Given the description of an element on the screen output the (x, y) to click on. 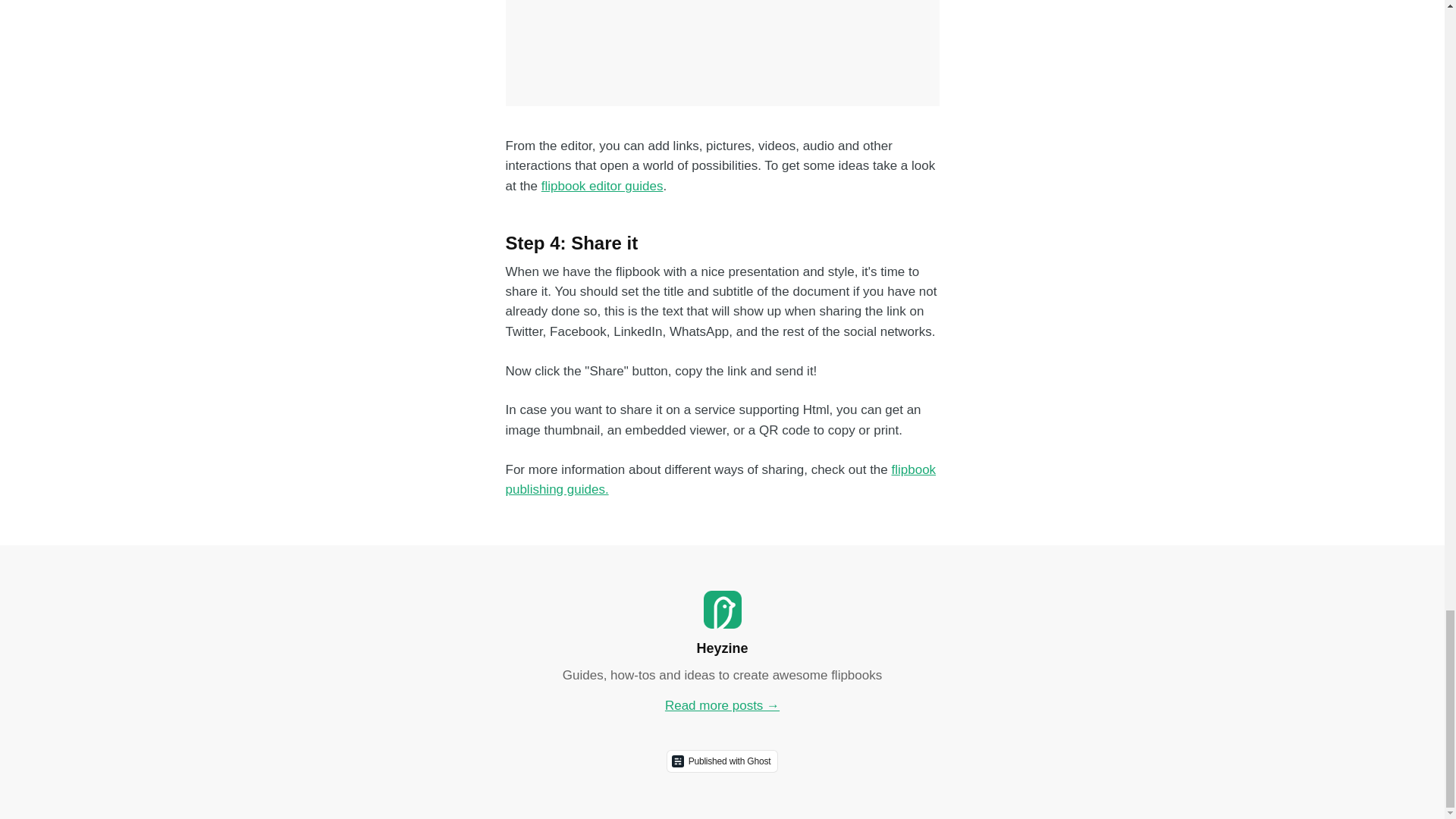
flipbook editor guides (602, 186)
flipbook publishing guides. (720, 479)
Published with Ghost (722, 761)
